Given the description of an element on the screen output the (x, y) to click on. 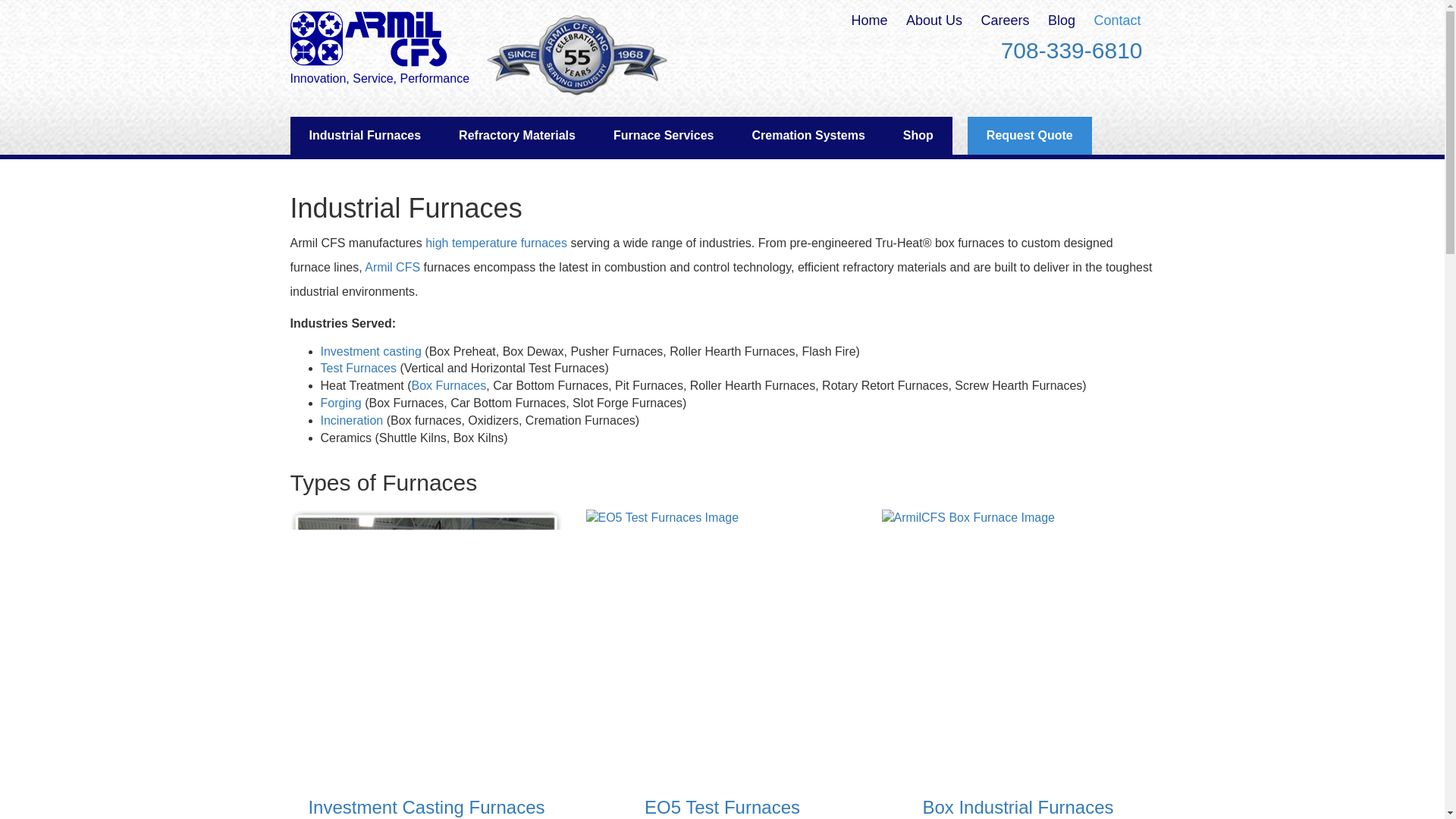
Investment Casting Furnaces (425, 645)
Refractory Materials (516, 135)
Furnace Services (663, 135)
EO5 Test Furnaces (722, 645)
About Us (933, 20)
Armil CFS (367, 38)
Request Quote (1030, 135)
Blog (1061, 20)
Careers (1004, 20)
Box Furnaces (1017, 645)
Industrial Furnaces (364, 135)
Cremation Systems (807, 135)
Contact (1116, 20)
Shop (917, 135)
Home (869, 20)
